Given the description of an element on the screen output the (x, y) to click on. 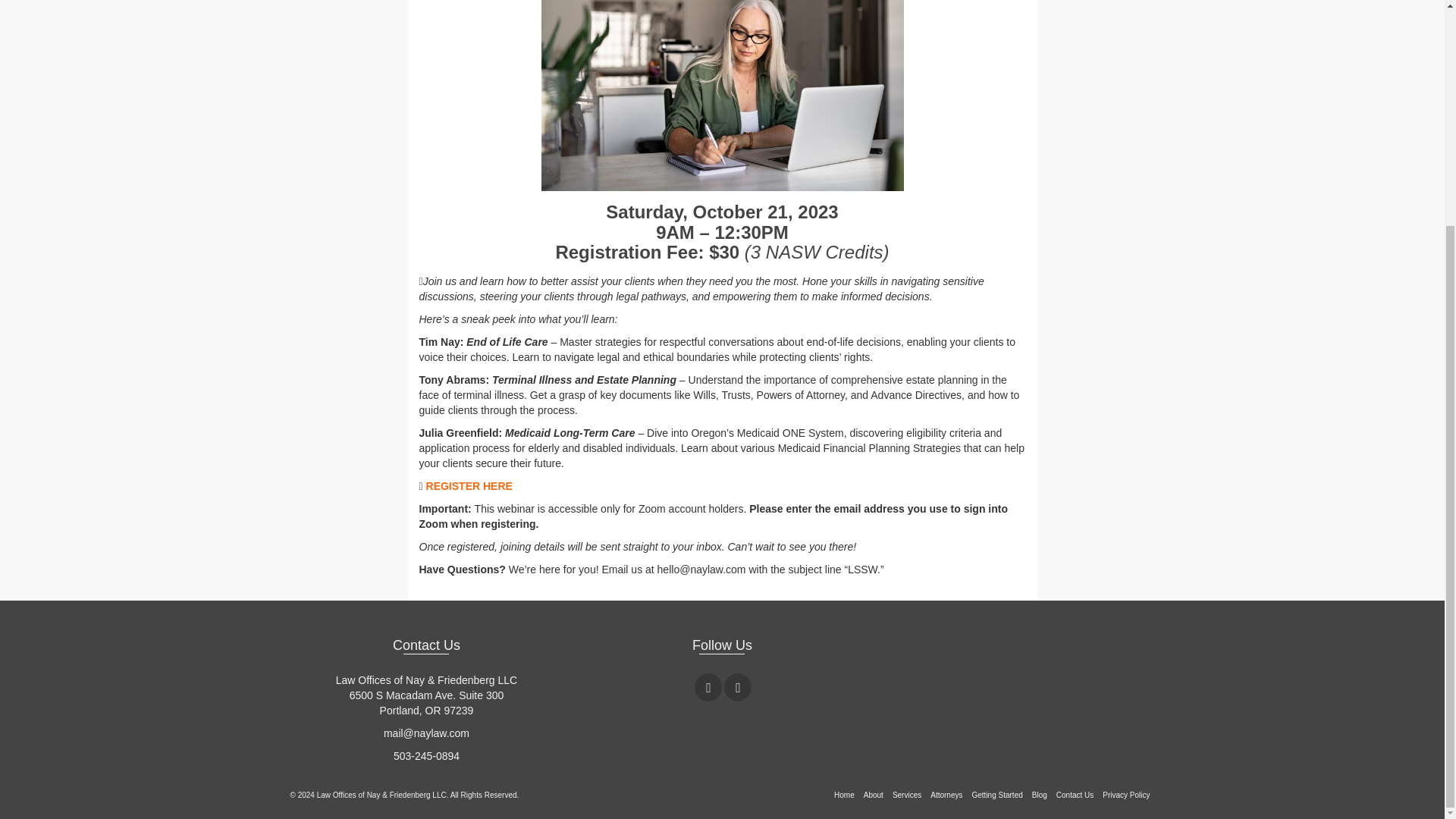
Facebook (708, 687)
LinkedIn (737, 687)
